Given the description of an element on the screen output the (x, y) to click on. 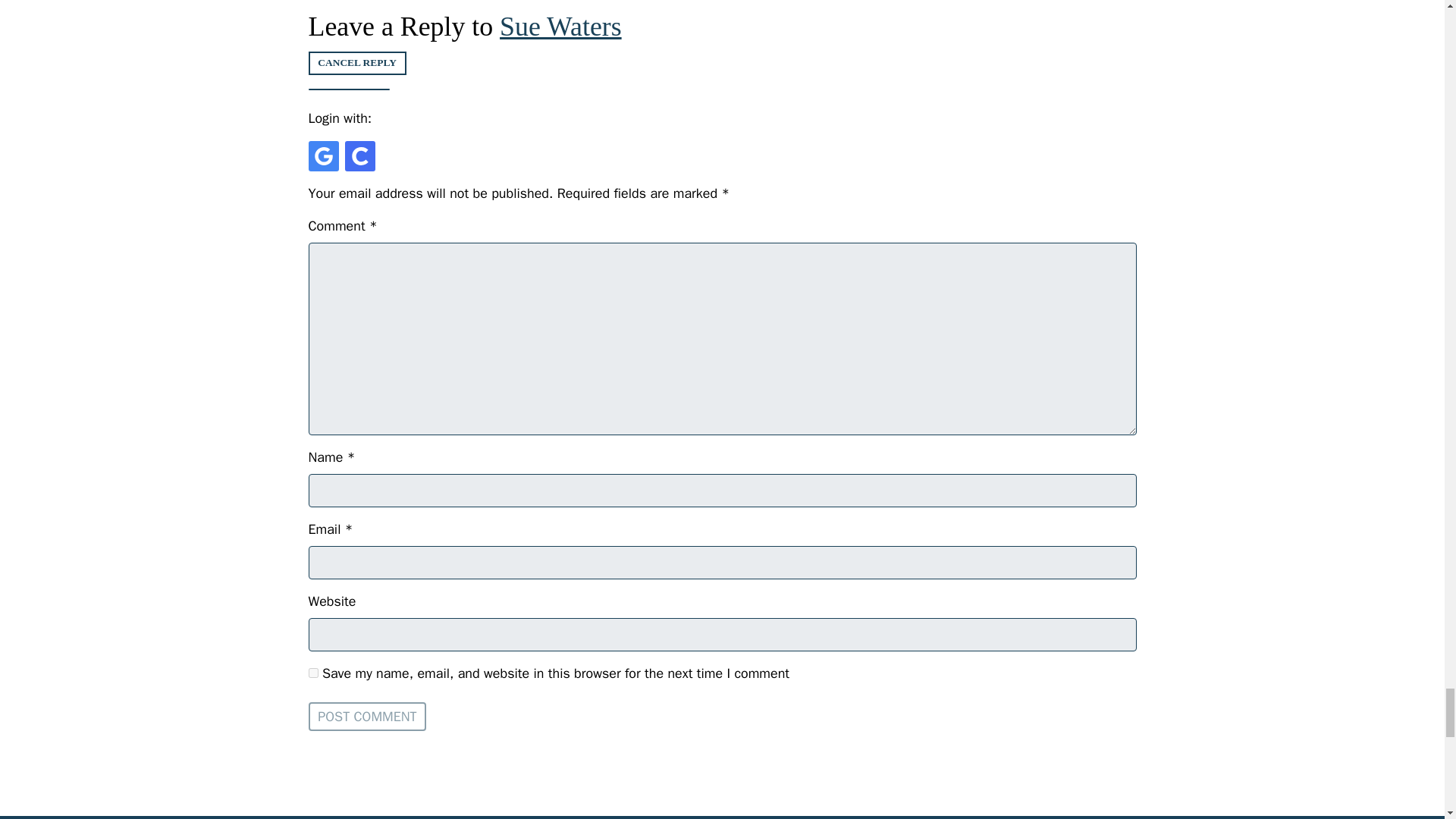
yes (312, 673)
Continue with Clever (358, 155)
Continue with Google (322, 155)
Post Comment (366, 716)
